Given the description of an element on the screen output the (x, y) to click on. 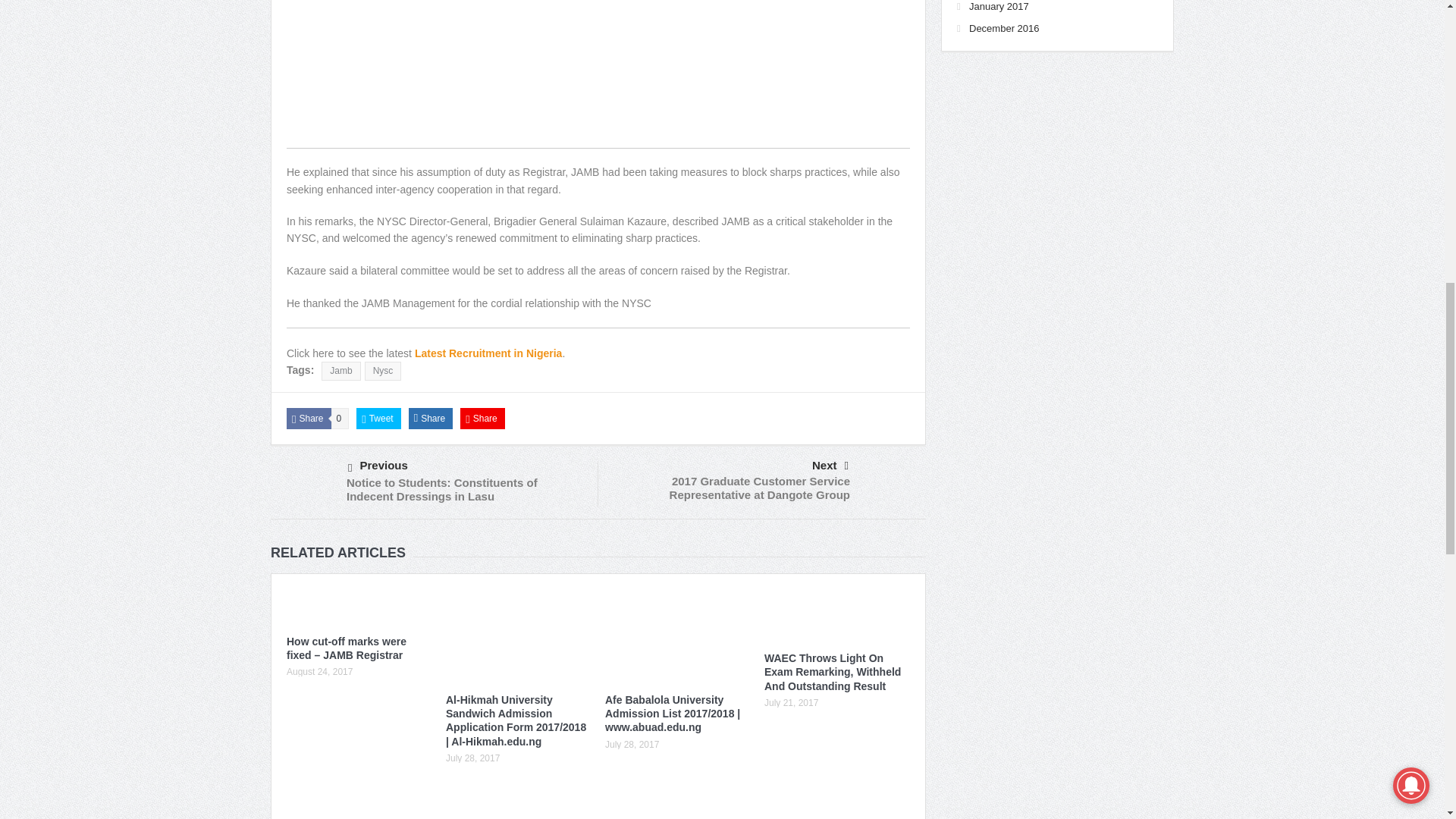
Advertisement (598, 74)
